Given the description of an element on the screen output the (x, y) to click on. 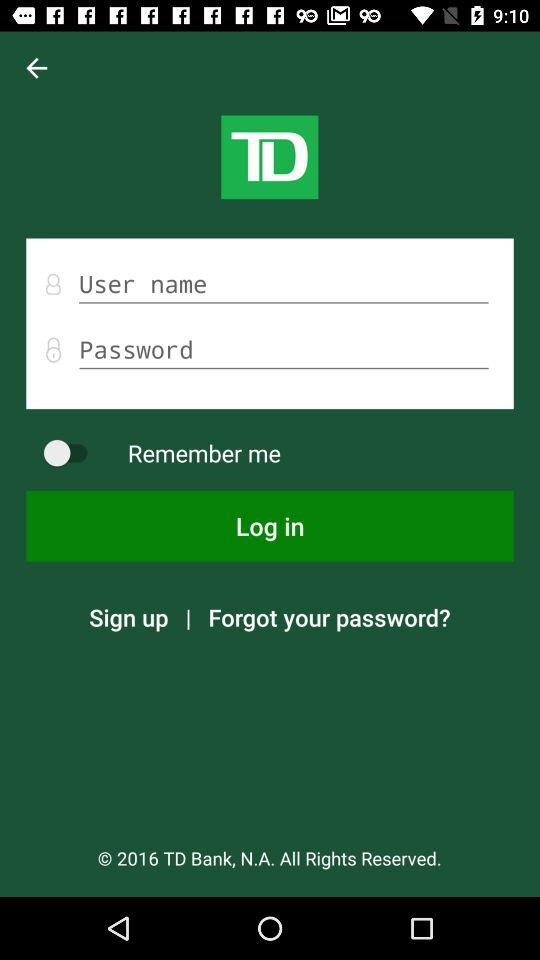
turn on icon to the right of | icon (329, 617)
